Given the description of an element on the screen output the (x, y) to click on. 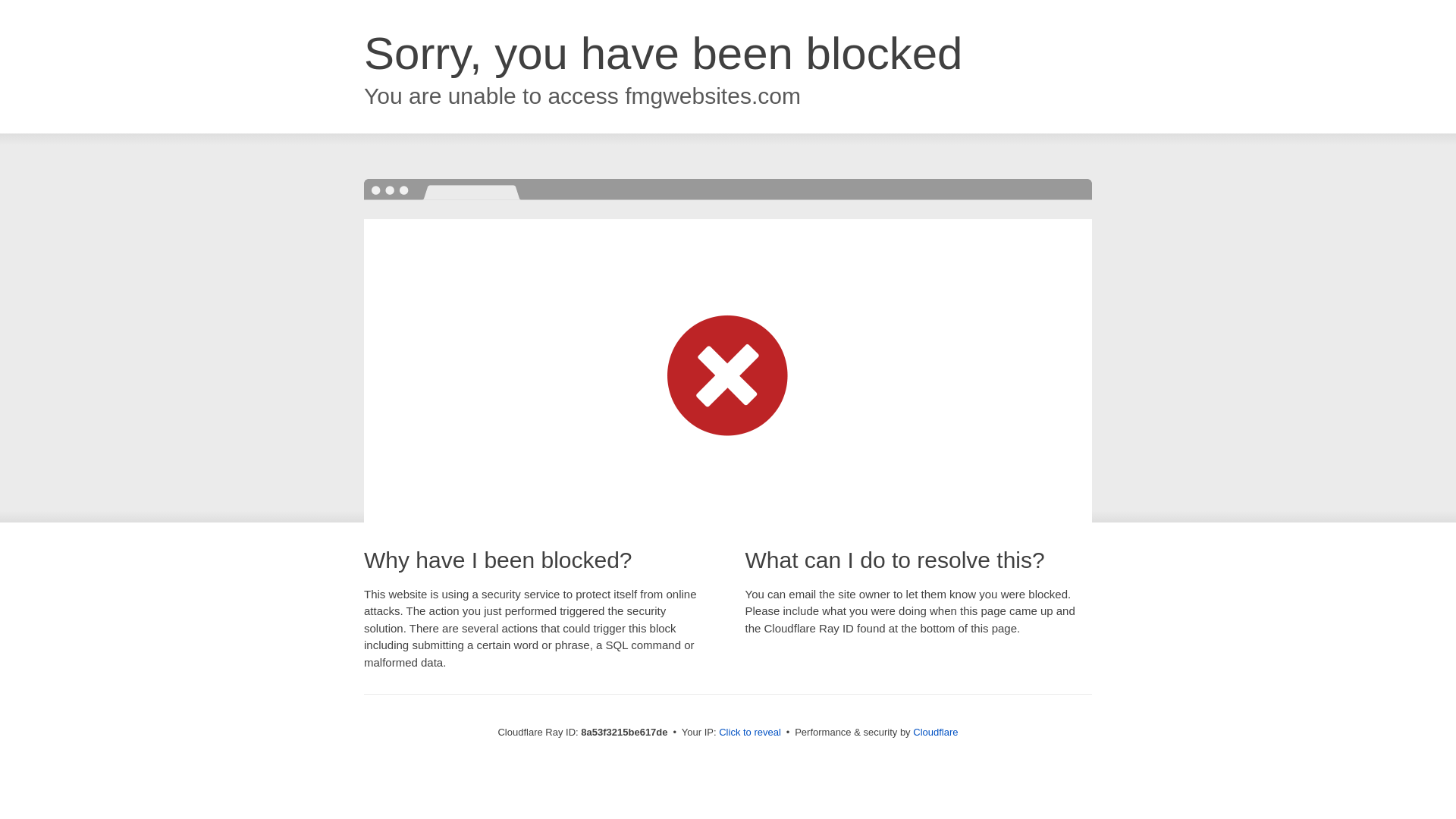
Click to reveal (749, 732)
Cloudflare (935, 731)
